Given the description of an element on the screen output the (x, y) to click on. 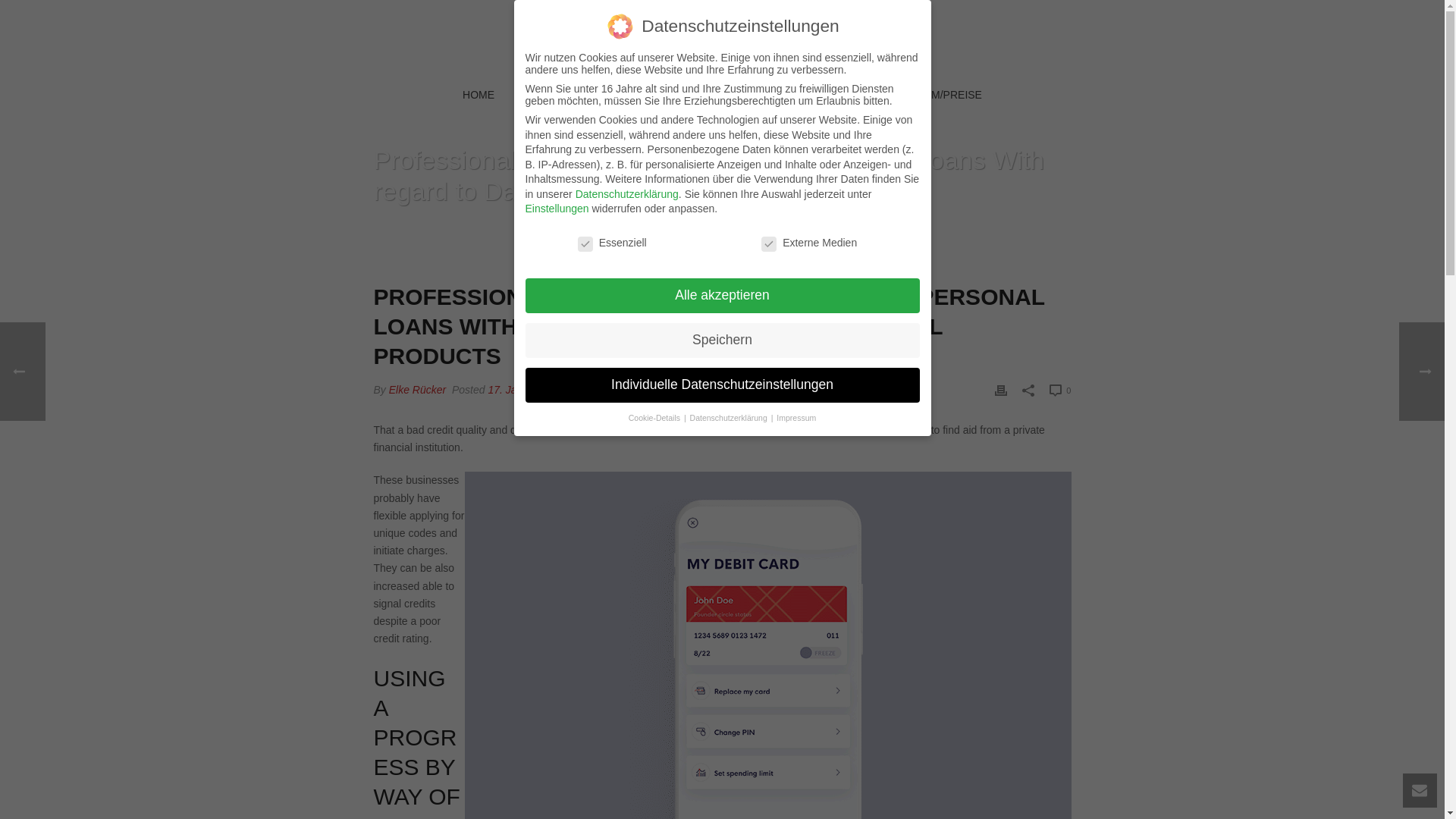
AUSSENANLAGEN (674, 96)
17. Januar 2023 (525, 389)
REITHALLE (560, 96)
HOME (478, 96)
REITHALLE (560, 96)
Hirtenhof (721, 38)
AUSSENANLAGEN (674, 96)
AUSSTATTUNG (799, 96)
0 (1059, 390)
HOME (478, 96)
AUSSTATTUNG (799, 96)
Allgemein (605, 389)
HOME (502, 230)
